Given the description of an element on the screen output the (x, y) to click on. 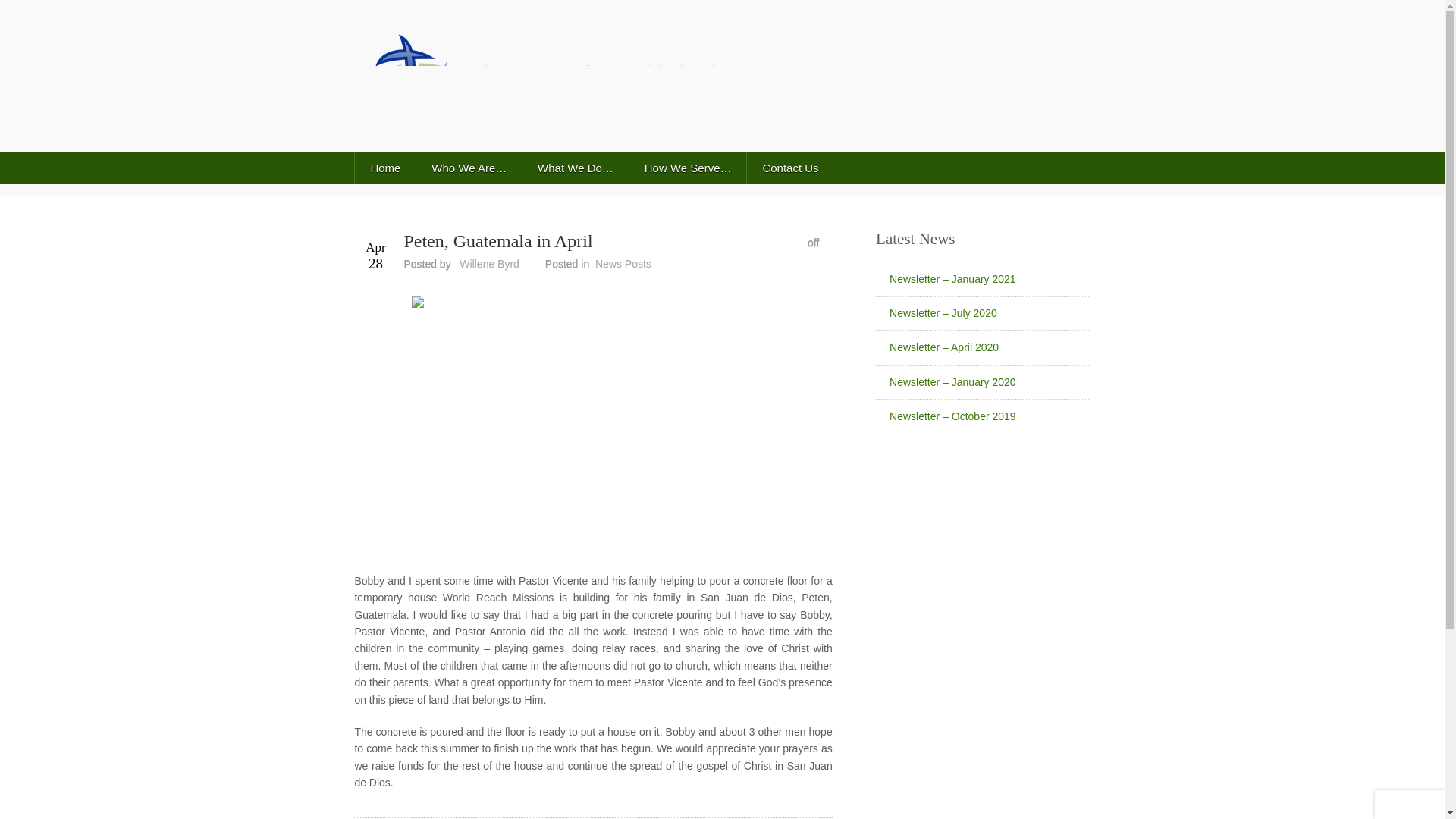
Willene Byrd (489, 263)
Home (383, 167)
Peten, Guatemala in April (497, 240)
News Posts (622, 263)
Permanent Link to Peten, Guatemala in April (497, 240)
Posts by Willene Byrd (489, 263)
Contact Us (788, 167)
